Given the description of an element on the screen output the (x, y) to click on. 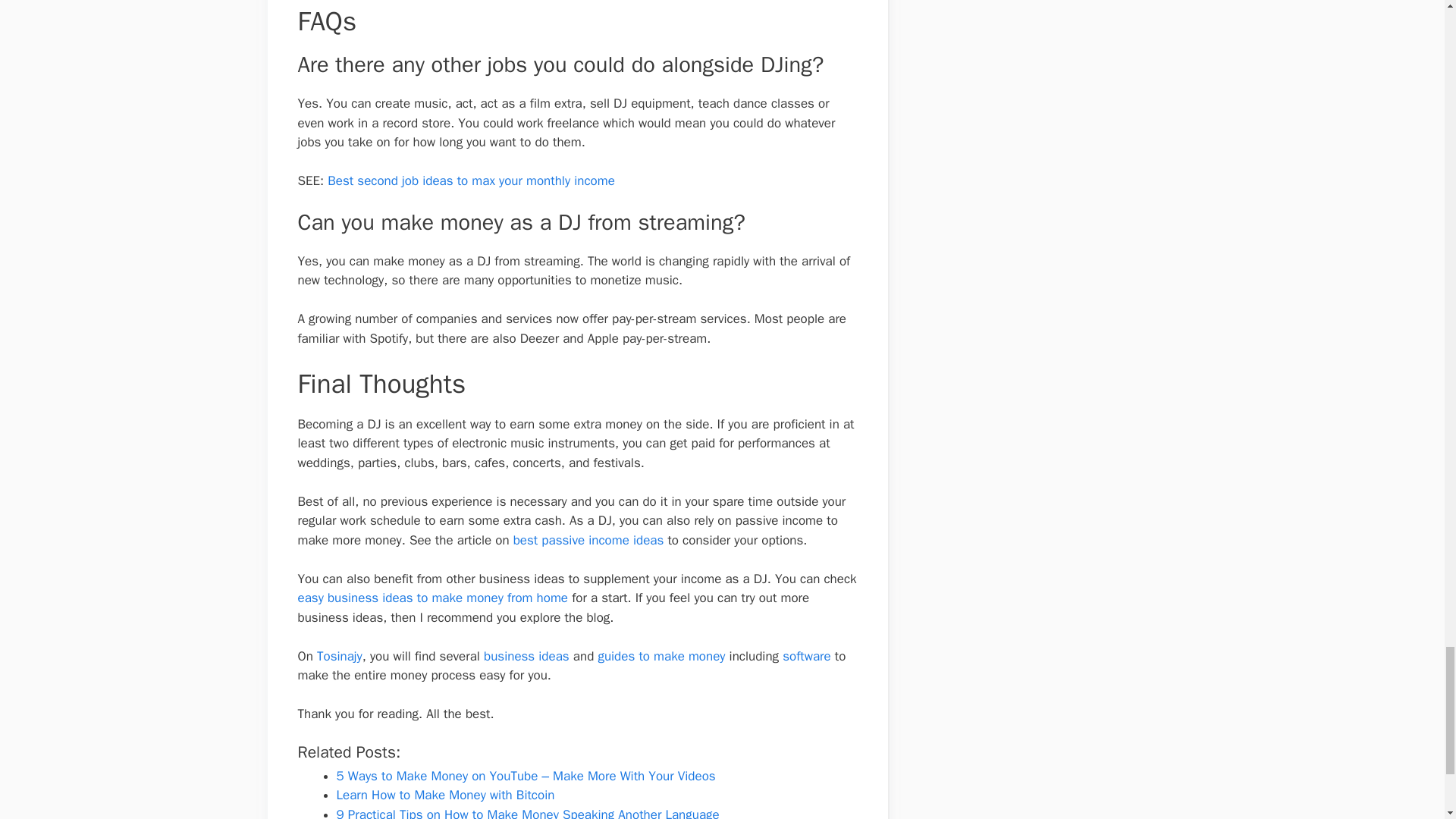
easy business ideas to make money from home (432, 597)
best passive income ideas (588, 539)
Best second job ideas to max your monthly income (470, 180)
guides to make money (660, 656)
Learn How to Make Money with Bitcoin (445, 795)
business ideas (526, 656)
Tosinajy (339, 656)
